Given the description of an element on the screen output the (x, y) to click on. 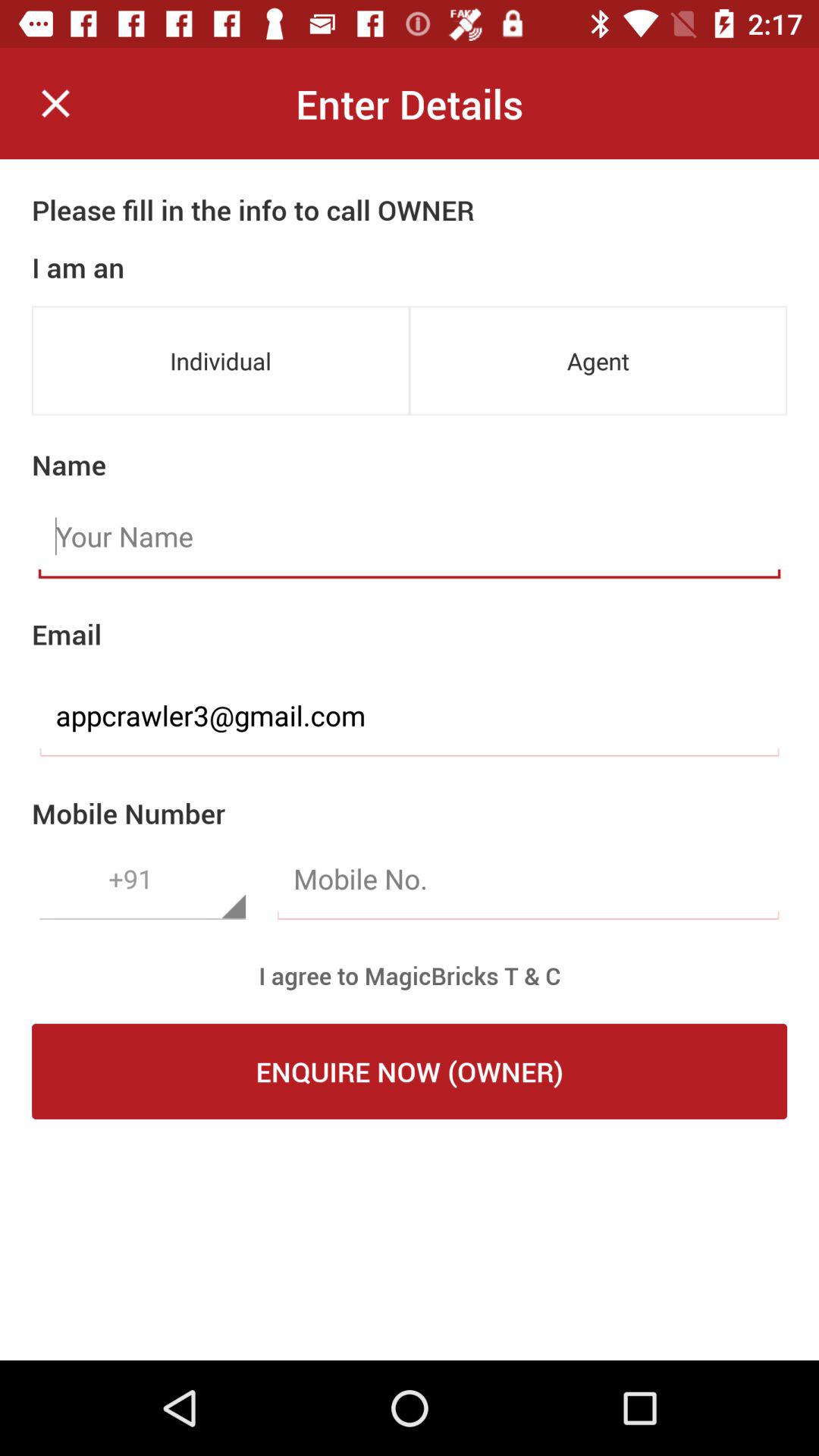
close window (55, 103)
